Given the description of an element on the screen output the (x, y) to click on. 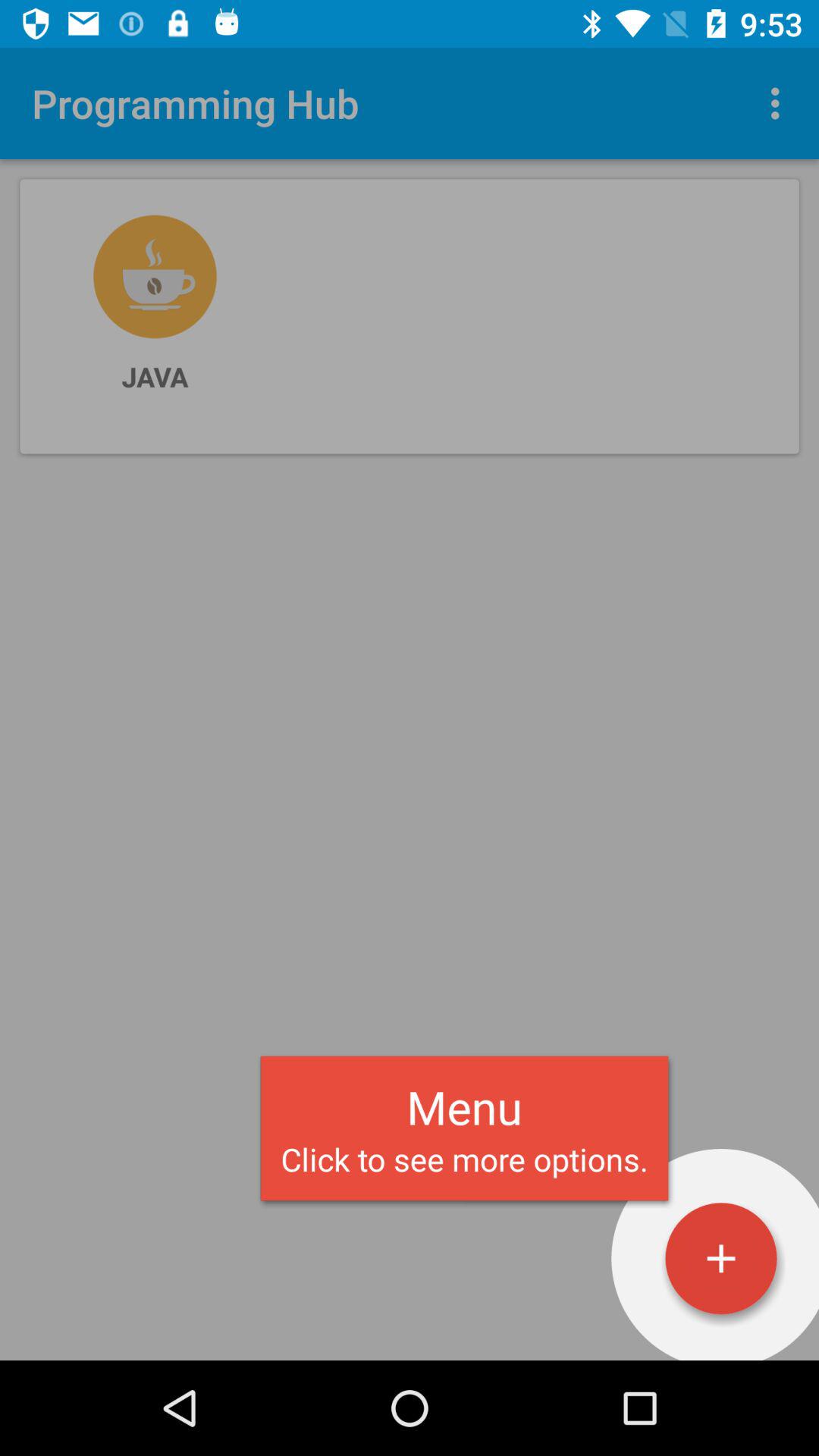
go to increase (721, 1258)
